Given the description of an element on the screen output the (x, y) to click on. 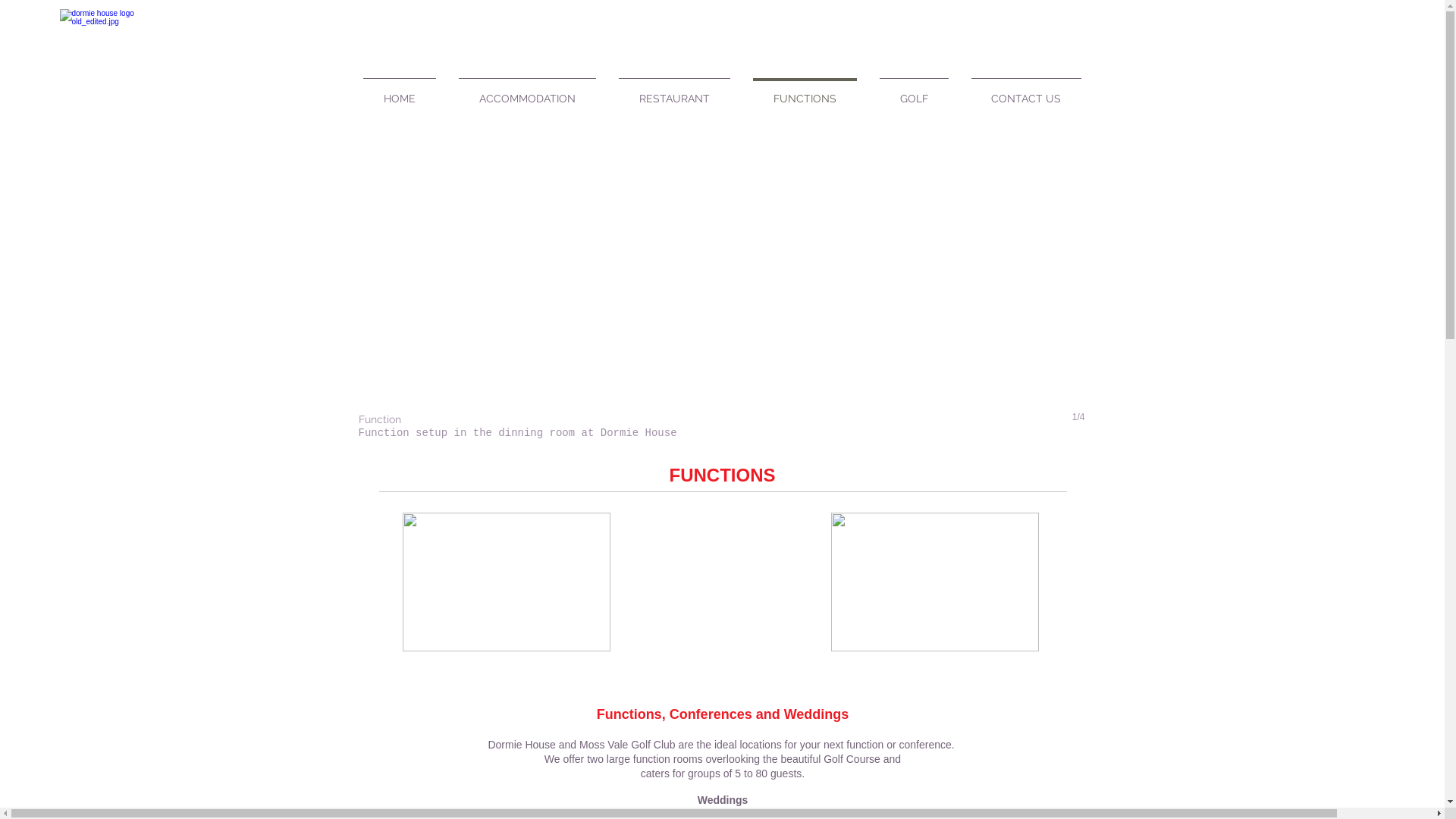
HOME Element type: text (399, 92)
CONTACT US Element type: text (1026, 92)
GOLF Element type: text (913, 92)
dormie house logo old.jpg Element type: hover (116, 39)
FUNCTIONS Element type: text (804, 92)
ACCOMMODATION Element type: text (527, 92)
Outdoor area 6.jpg Element type: hover (934, 581)
110.jpg Element type: hover (505, 581)
RESTAURANT Element type: text (673, 92)
